Given the description of an element on the screen output the (x, y) to click on. 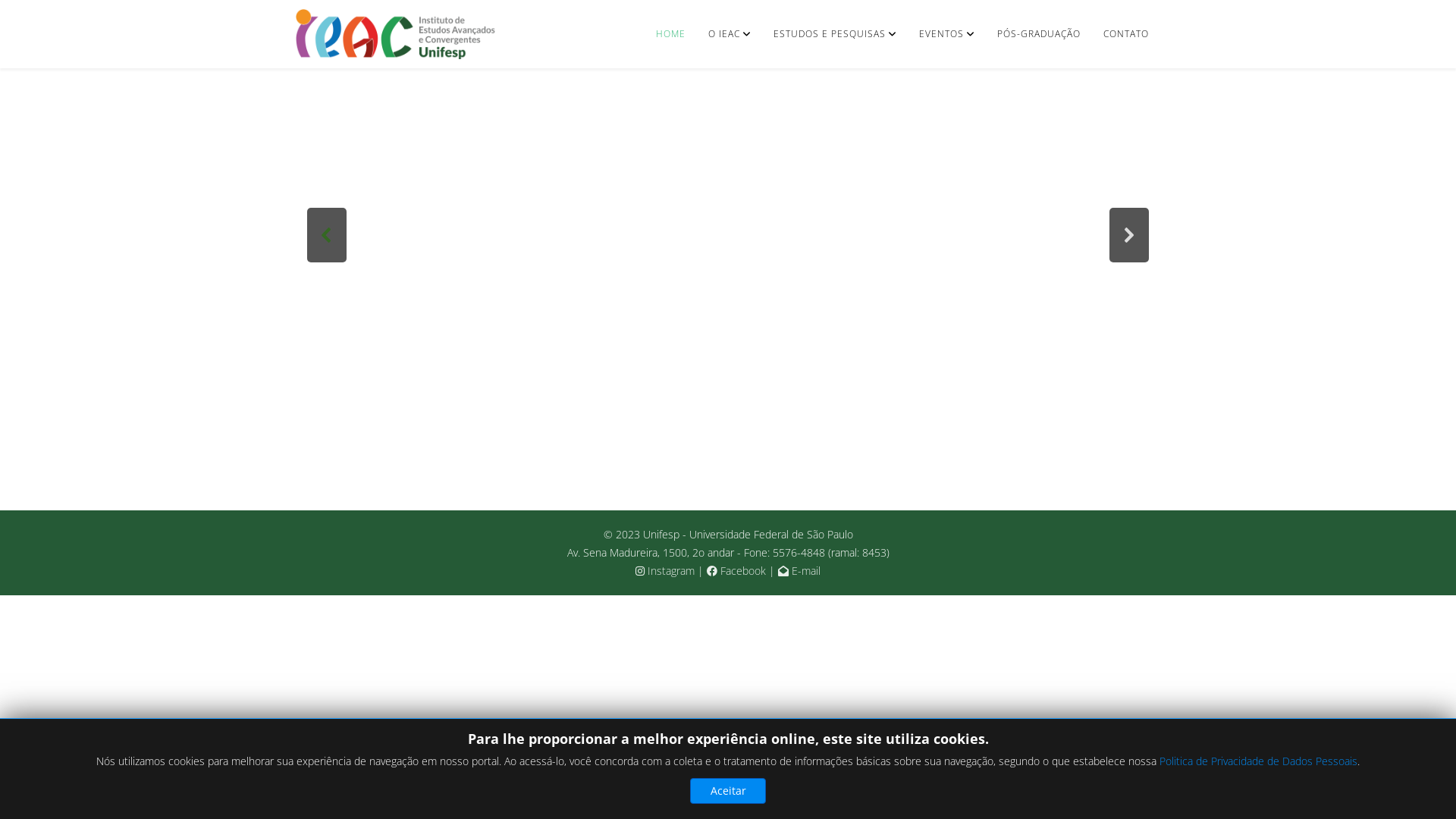
O IEAC Element type: text (729, 34)
EVENTOS Element type: text (946, 34)
ESTUDOS E PESQUISAS Element type: text (834, 34)
Politica de Privacidade de Dados Pessoais Element type: text (1258, 760)
E-mail Element type: text (799, 569)
CONTATO Element type: text (1126, 34)
HOME Element type: text (670, 34)
Instagram Element type: text (664, 569)
Facebook Element type: text (735, 569)
